Given the description of an element on the screen output the (x, y) to click on. 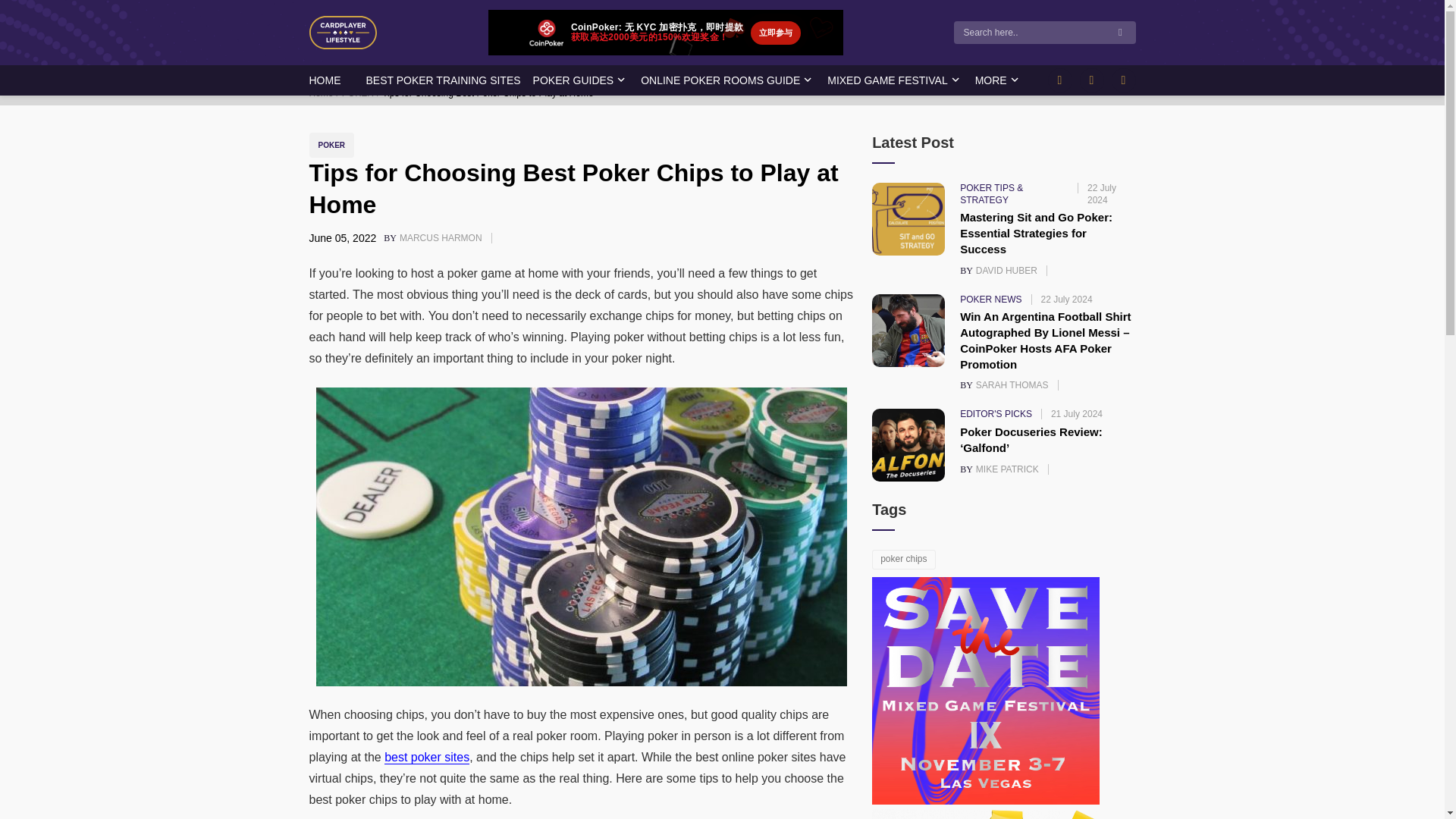
BEST POKER TRAINING SITES (442, 80)
POKER GUIDES (573, 80)
best poker sites (426, 757)
MIXED GAME FESTIVAL (442, 237)
POKER (887, 80)
Home (361, 93)
HOME (325, 93)
MORE (324, 80)
ONLINE POKER ROOMS GUIDE (991, 80)
